Given the description of an element on the screen output the (x, y) to click on. 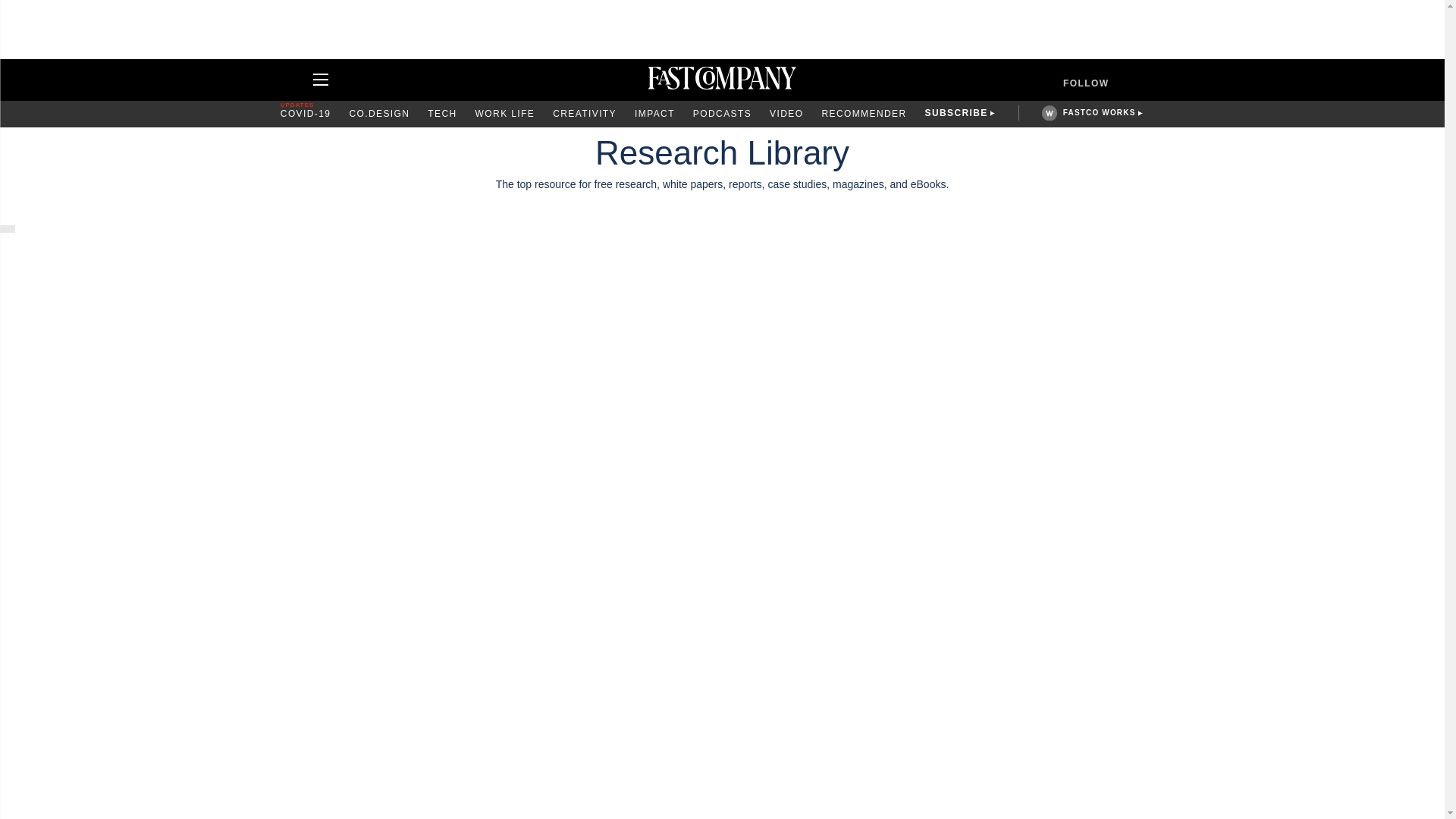
WORK LIFE (505, 113)
Work Life (505, 113)
SUBSCRIBE (956, 113)
Impact (654, 113)
CO.DESIGN (379, 113)
Video (786, 113)
PODCASTS (722, 113)
Co.Design (379, 113)
Creativity (584, 113)
VIDEO (786, 113)
